Given the description of an element on the screen output the (x, y) to click on. 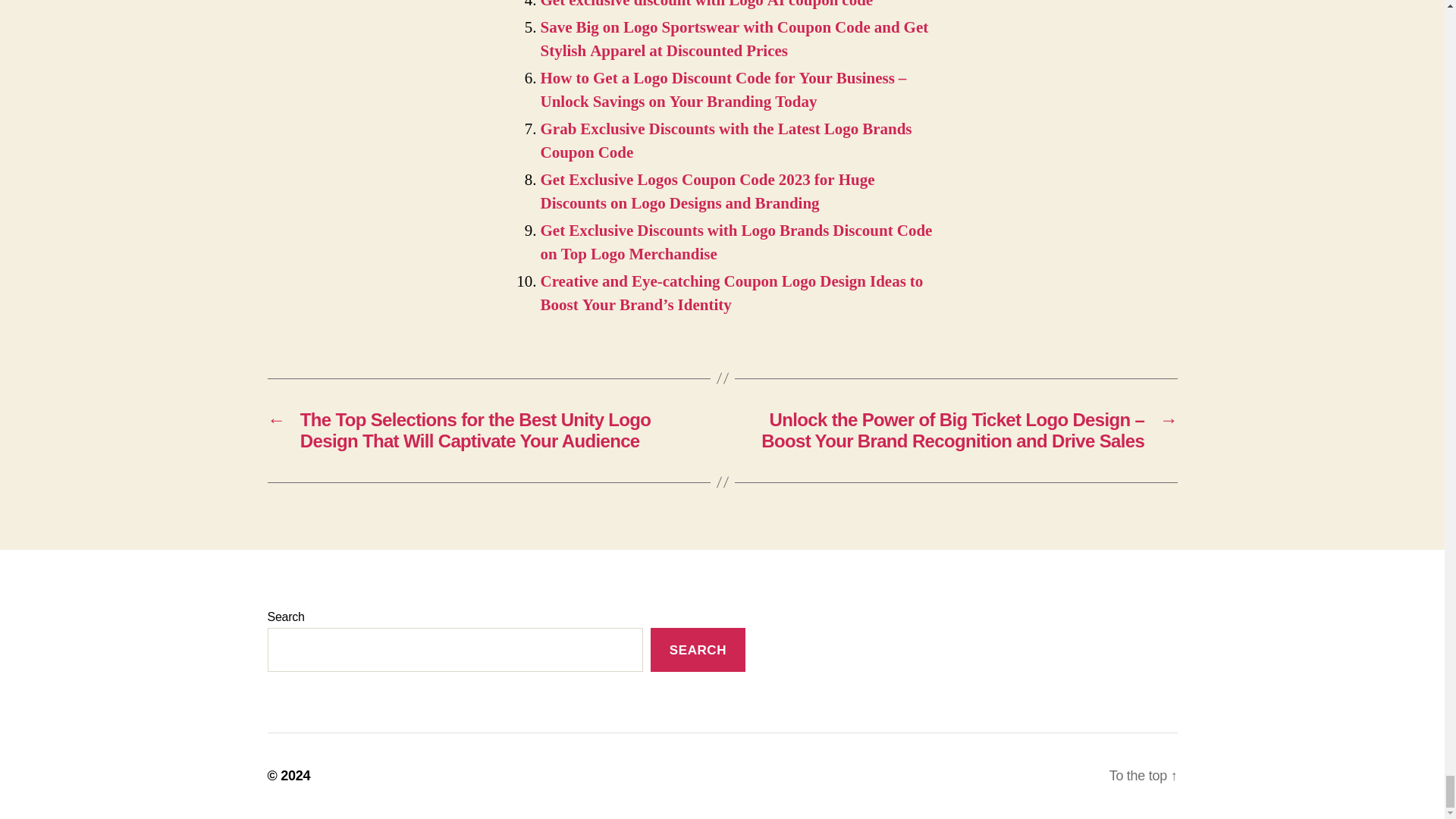
Get exclusive discount with Logo AI coupon code (706, 5)
SEARCH (697, 650)
Get exclusive discount with Logo AI coupon code (706, 5)
